Given the description of an element on the screen output the (x, y) to click on. 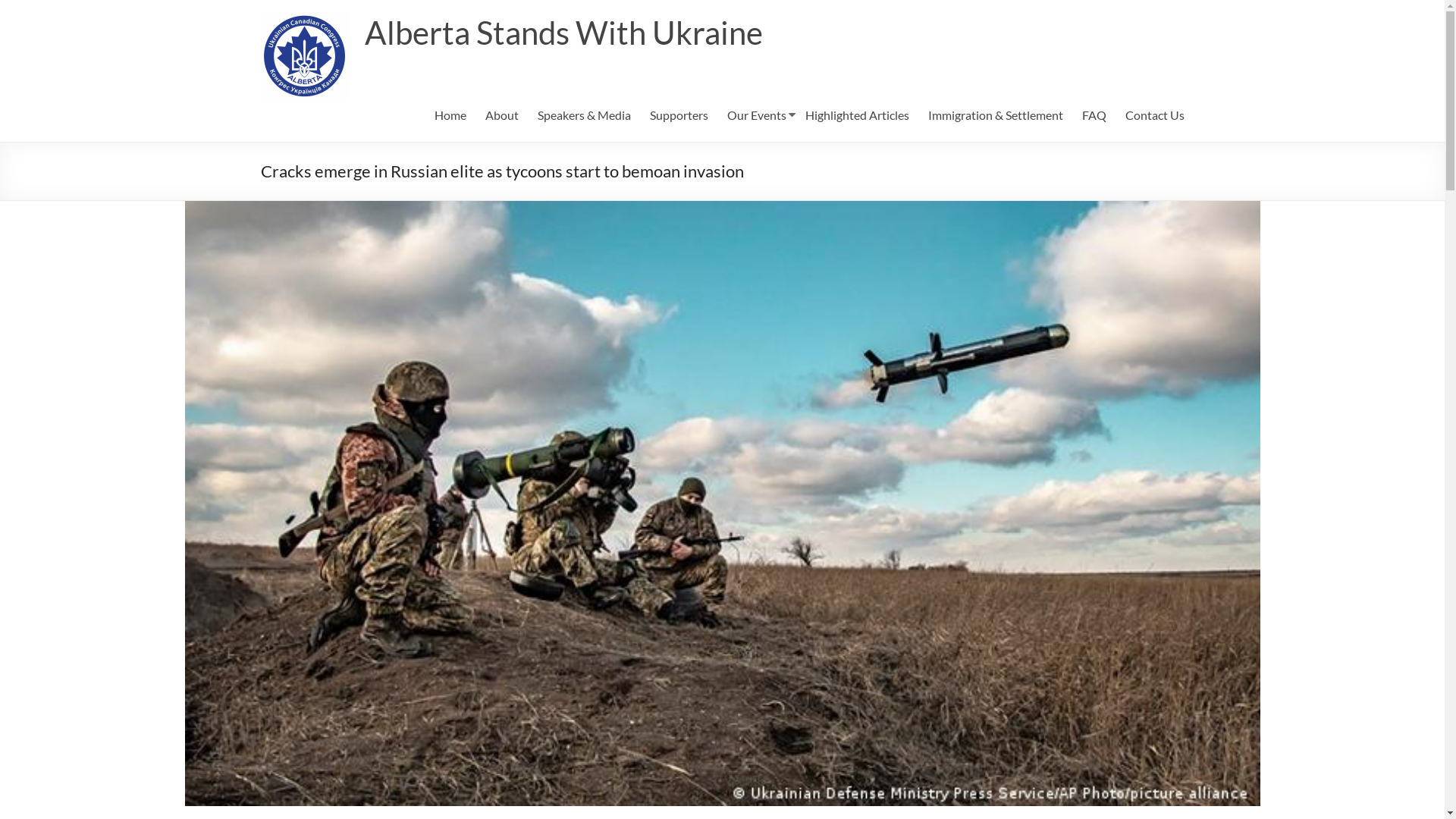
Home Element type: text (449, 114)
FAQ Element type: text (1093, 114)
Our Events Element type: text (755, 114)
About Element type: text (501, 114)
Highlighted Articles Element type: text (857, 114)
Alberta Stands With Ukraine Element type: text (563, 32)
Speakers & Media Element type: text (583, 114)
Contact Us Element type: text (1154, 114)
Supporters Element type: text (678, 114)
Immigration & Settlement Element type: text (995, 114)
